Given the description of an element on the screen output the (x, y) to click on. 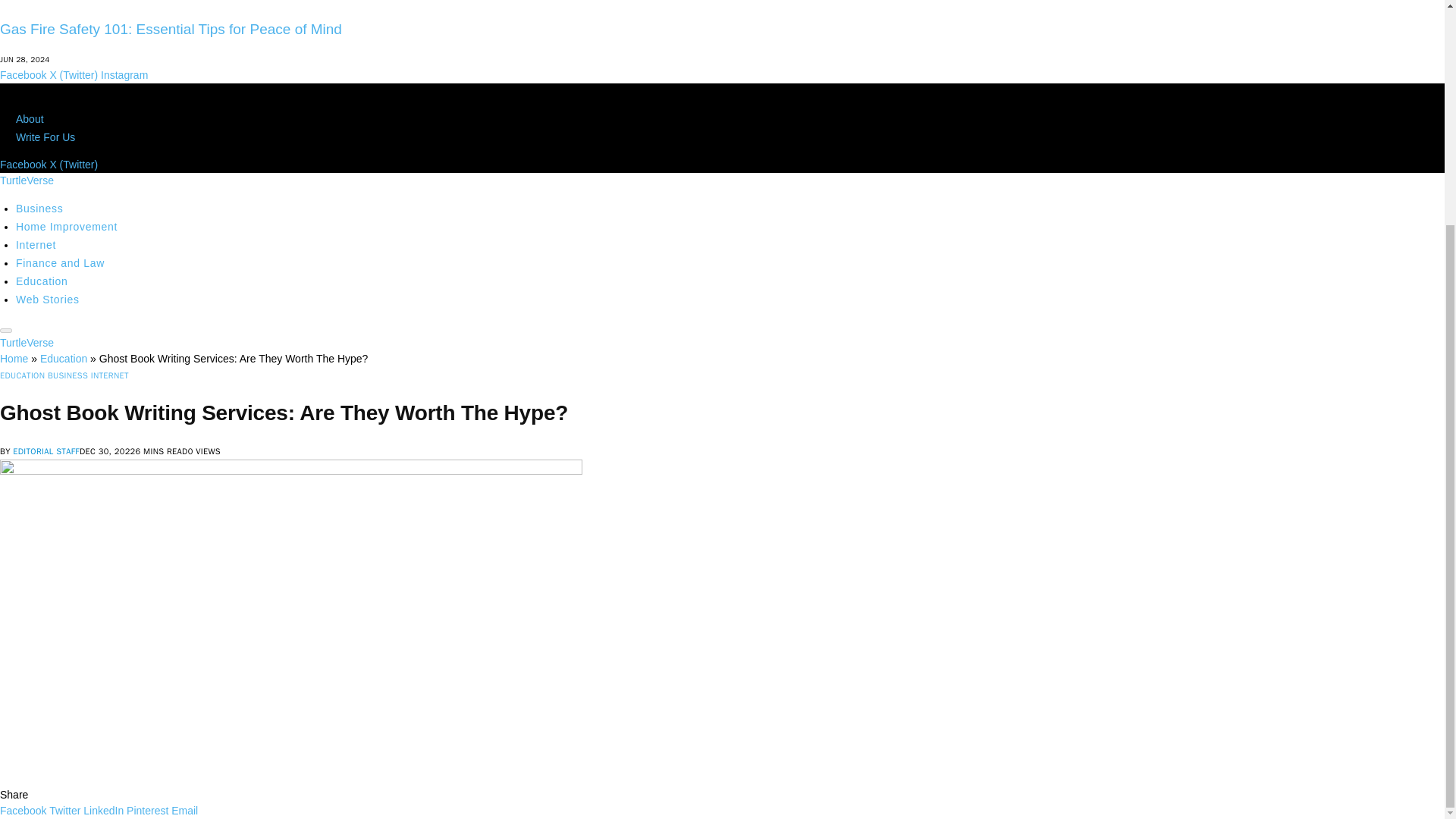
BUSINESS (67, 375)
TurtleVerse (26, 342)
Twitter (64, 810)
EDITORIAL STAFF (46, 450)
Home Improvement (66, 226)
Write For Us (45, 137)
Facebook (24, 74)
Finance and Law (60, 263)
Facebook (24, 164)
About (29, 119)
Gas Fire Safety 101: Essential Tips for Peace of Mind (171, 28)
Facebook (23, 810)
TurtleVerse (26, 180)
Education (42, 281)
